Given the description of an element on the screen output the (x, y) to click on. 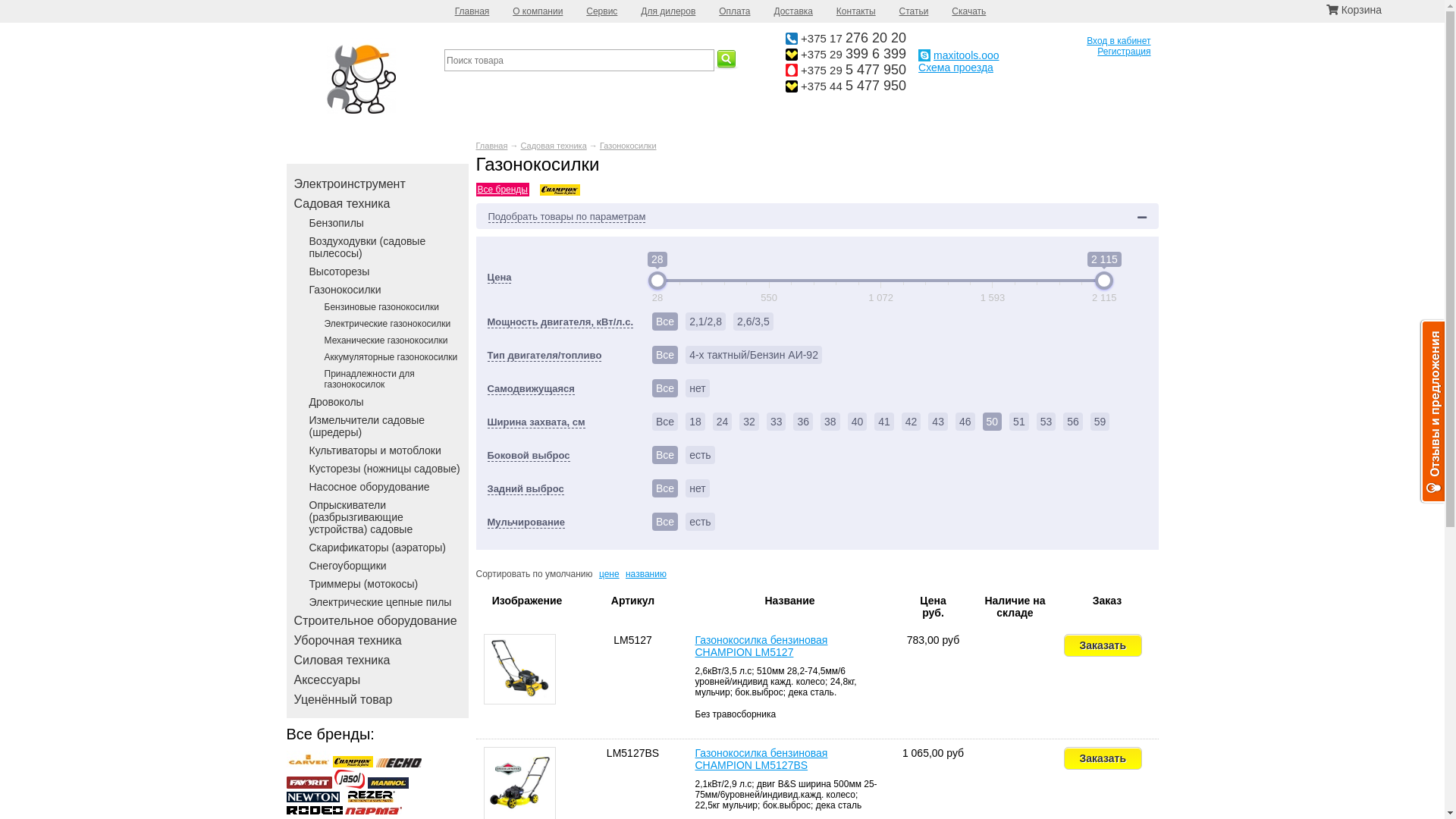
33 Element type: text (776, 421)
38 Element type: text (830, 421)
46 Element type: text (965, 421)
51 Element type: text (1019, 421)
18 Element type: text (695, 421)
50 Element type: text (992, 421)
maxitools.ooo Element type: text (965, 55)
2,6/3,5 Element type: text (753, 321)
32 Element type: text (749, 421)
59 Element type: text (1100, 421)
53 Element type: text (1046, 421)
43 Element type: text (937, 421)
24 Element type: text (722, 421)
36 Element type: text (802, 421)
42 Element type: text (911, 421)
41 Element type: text (884, 421)
40 Element type: text (857, 421)
56 Element type: text (1072, 421)
2,1/2,8 Element type: text (705, 321)
